Given the description of an element on the screen output the (x, y) to click on. 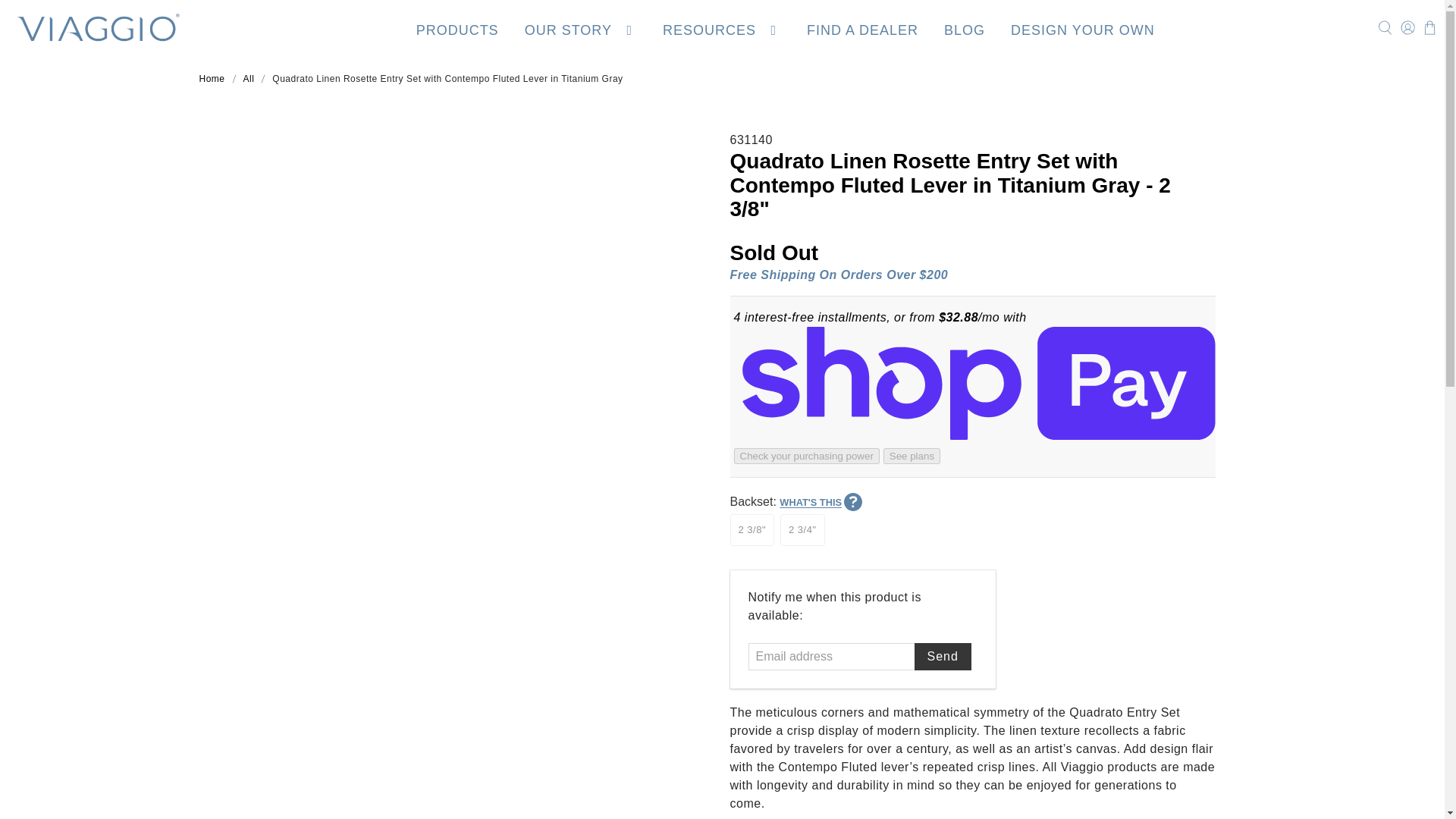
BLOG (964, 27)
Send (942, 656)
OUR STORY (580, 27)
FIND A DEALER (862, 27)
DESIGN YOUR OWN (1082, 27)
Viaggio Hardware (211, 78)
Viaggio Hardware (97, 27)
PRODUCTS (457, 27)
RESOURCES (721, 27)
